Given the description of an element on the screen output the (x, y) to click on. 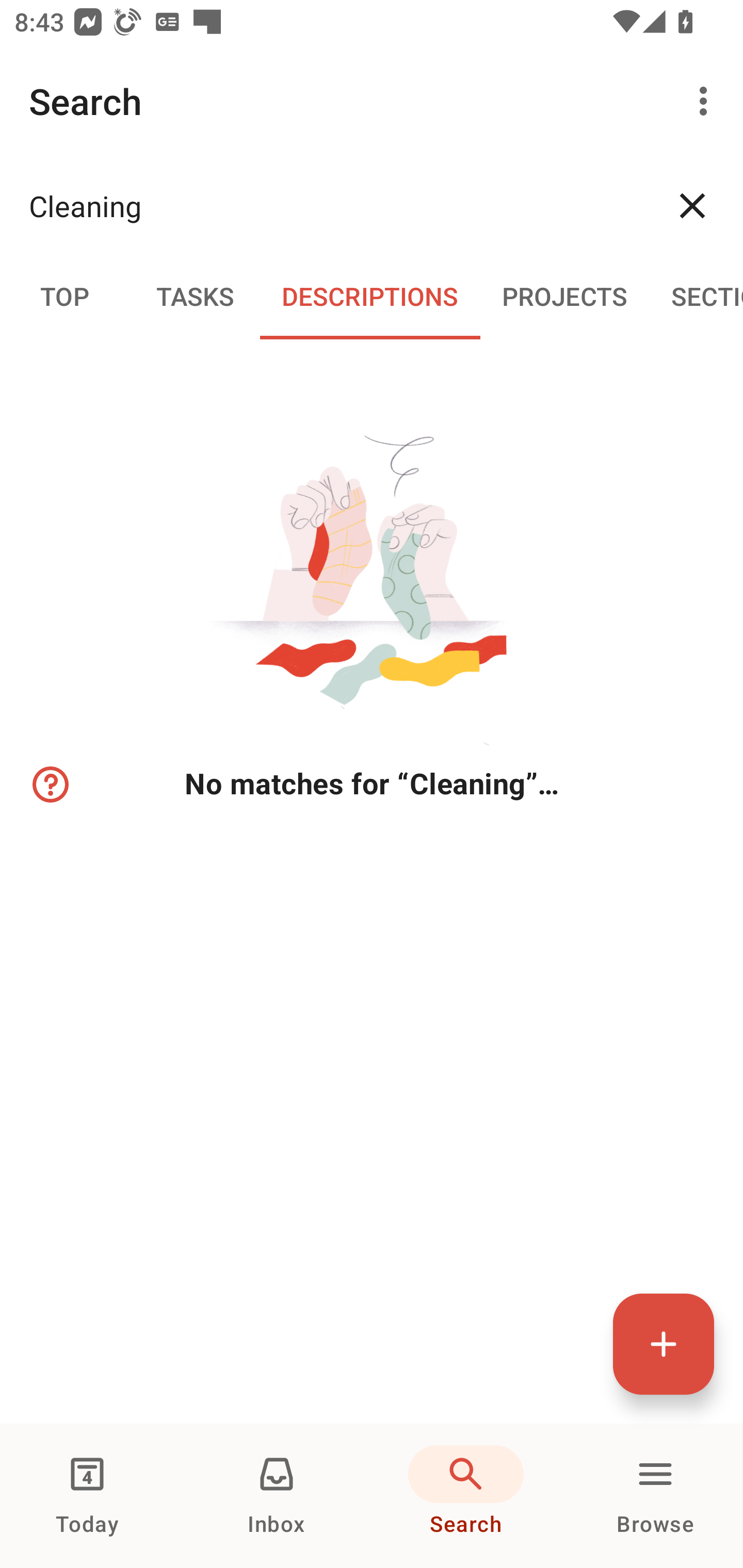
Search More options (371, 100)
More options (706, 101)
Cleaning (335, 205)
Clear (692, 205)
Top TOP (65, 295)
Tasks TASKS (195, 295)
Projects PROJECTS (564, 295)
Learn how to refine your search (48, 784)
Quick add (663, 1343)
Today (87, 1495)
Inbox (276, 1495)
Browse (655, 1495)
